Given the description of an element on the screen output the (x, y) to click on. 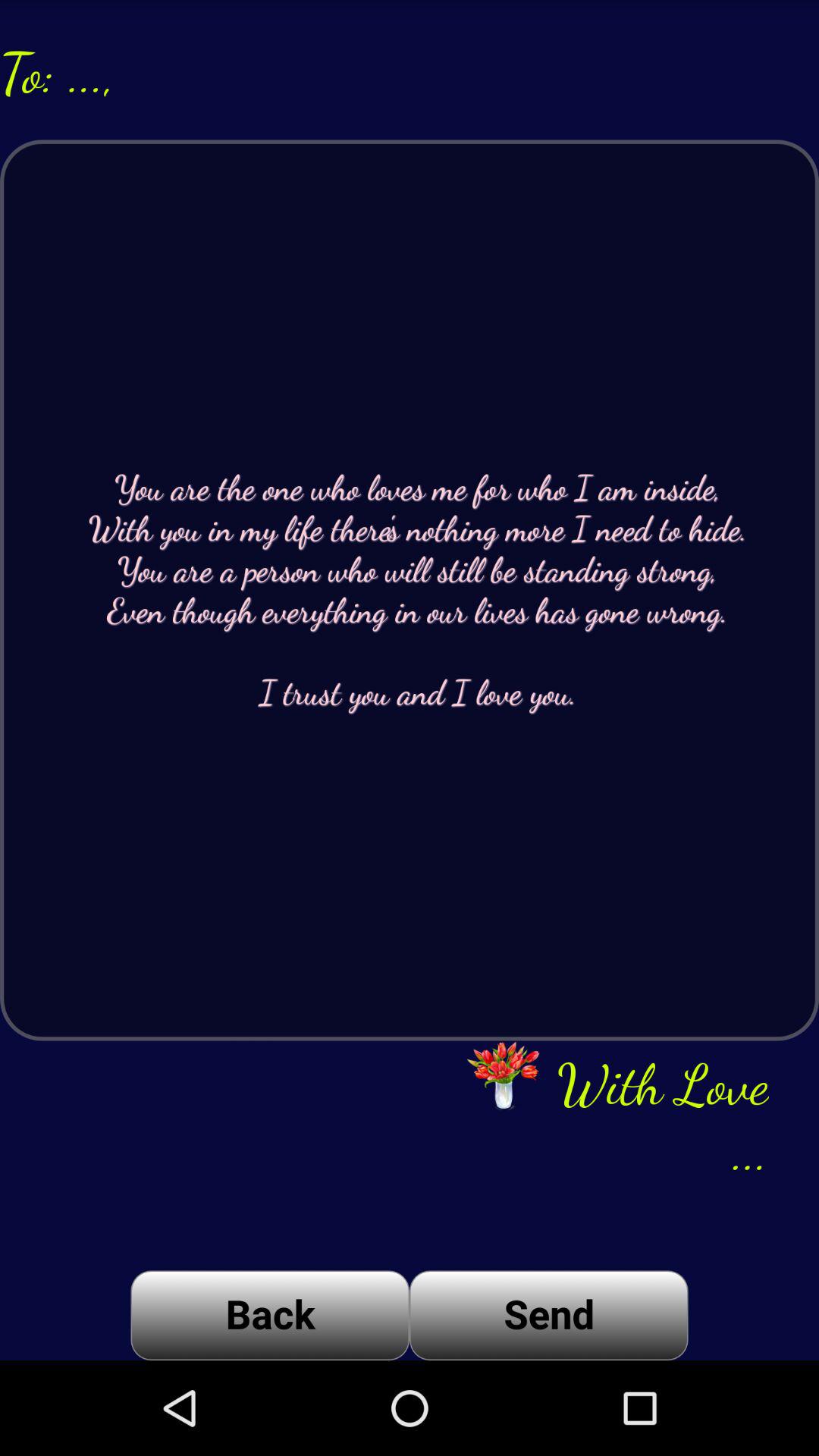
jump until the back (269, 1315)
